Given the description of an element on the screen output the (x, y) to click on. 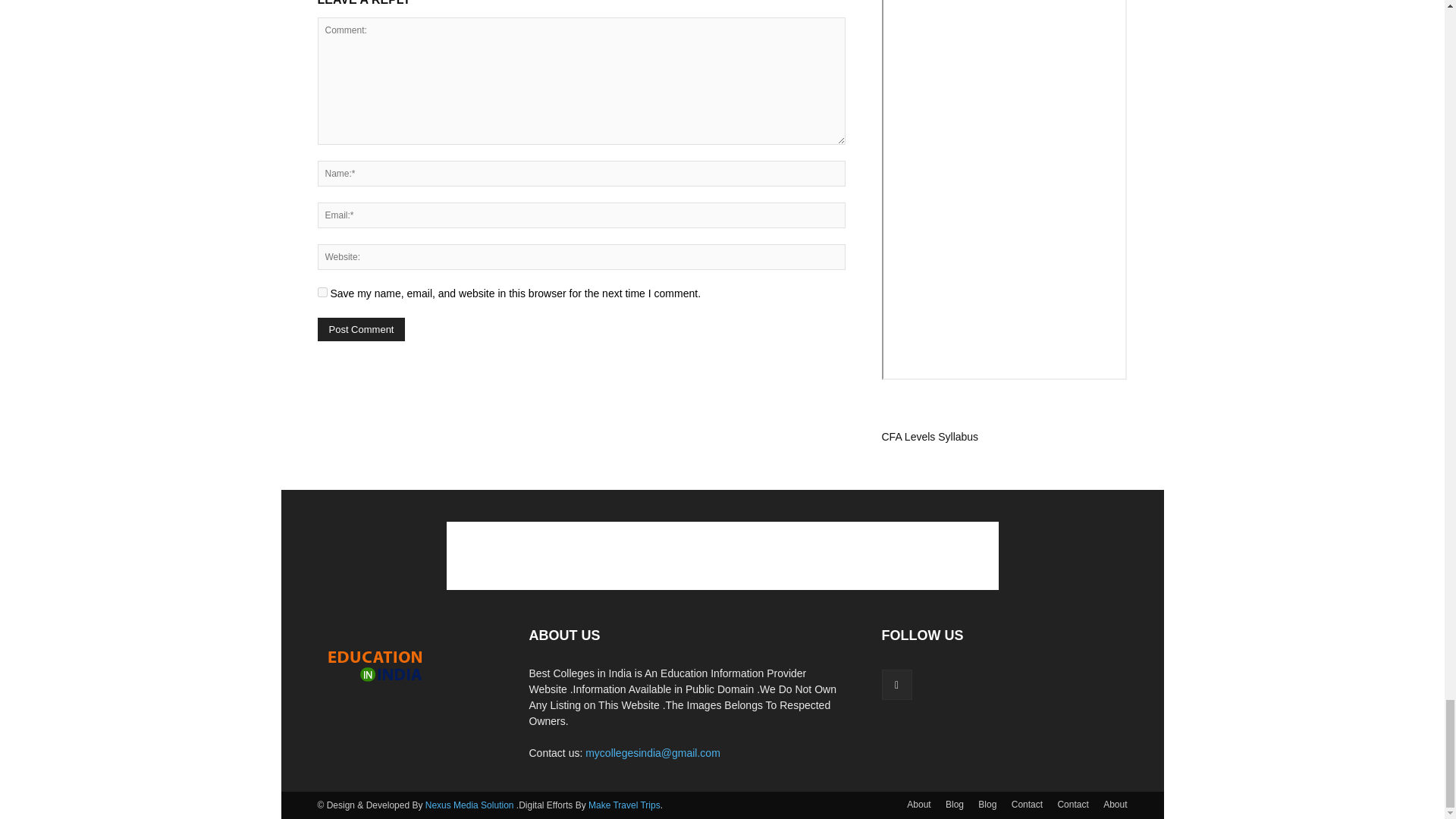
Post Comment (360, 329)
yes (321, 292)
